Given the description of an element on the screen output the (x, y) to click on. 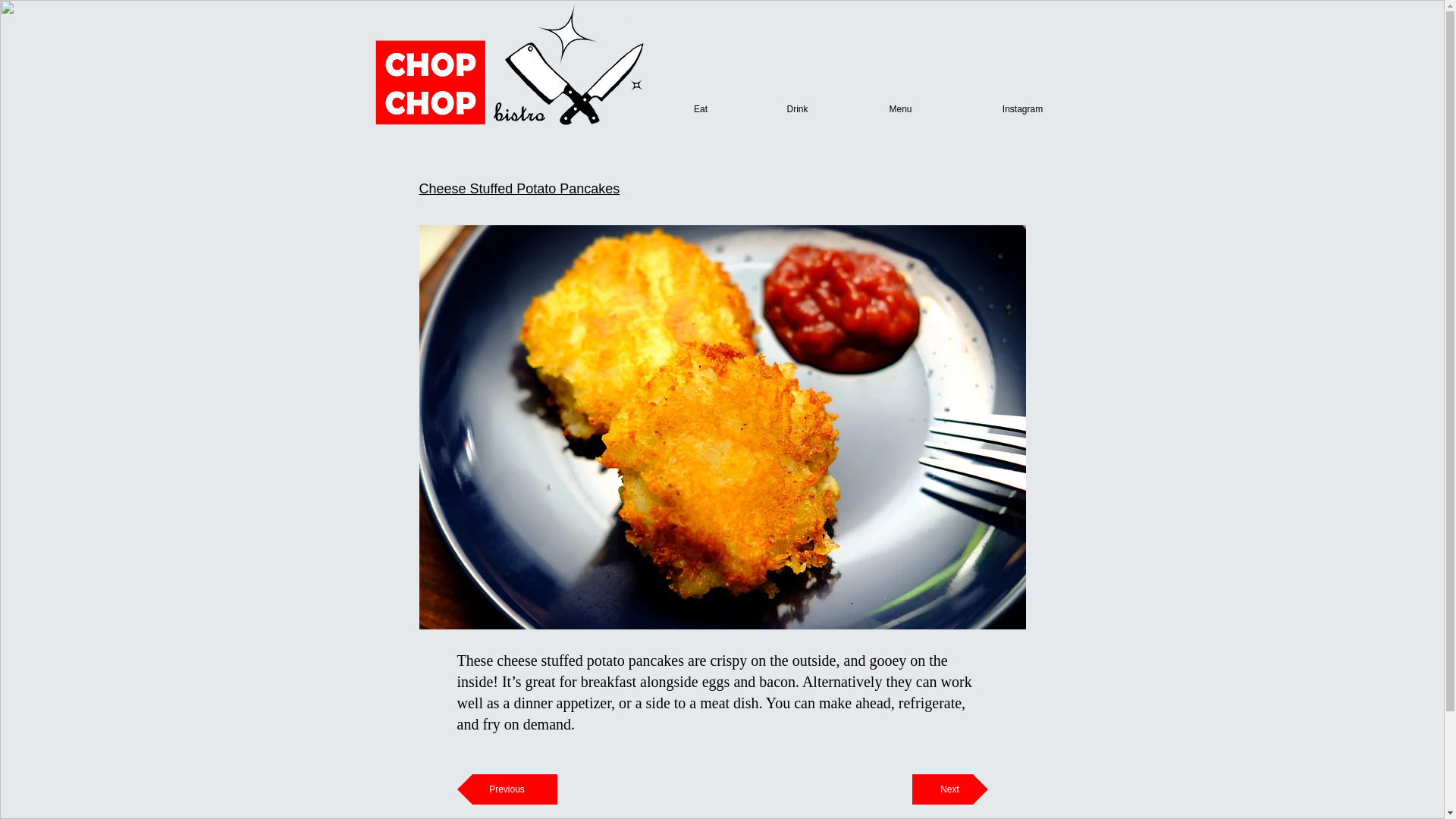
Next (949, 788)
Eat (700, 108)
Instagram (1022, 108)
Drink (797, 108)
Previous (506, 788)
Menu (899, 108)
